Given the description of an element on the screen output the (x, y) to click on. 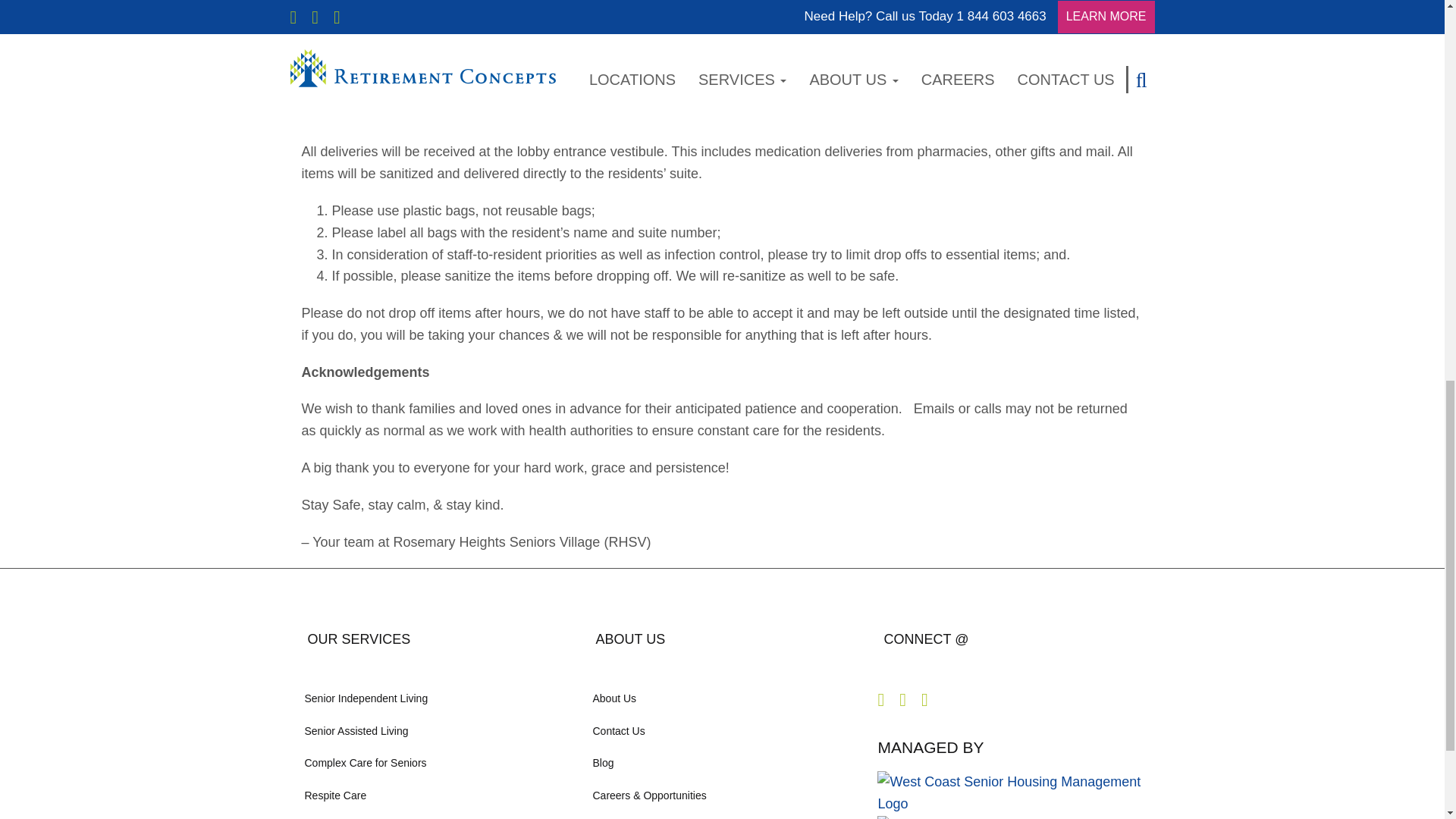
Senior Assisted Living (434, 730)
West Coast Seniors Housing Management (721, 815)
About Us (721, 698)
Respite Care (434, 795)
Complex Care for Seniors (434, 762)
Contact Us (721, 730)
Senior Independent Living (434, 698)
Blog (721, 762)
